Given the description of an element on the screen output the (x, y) to click on. 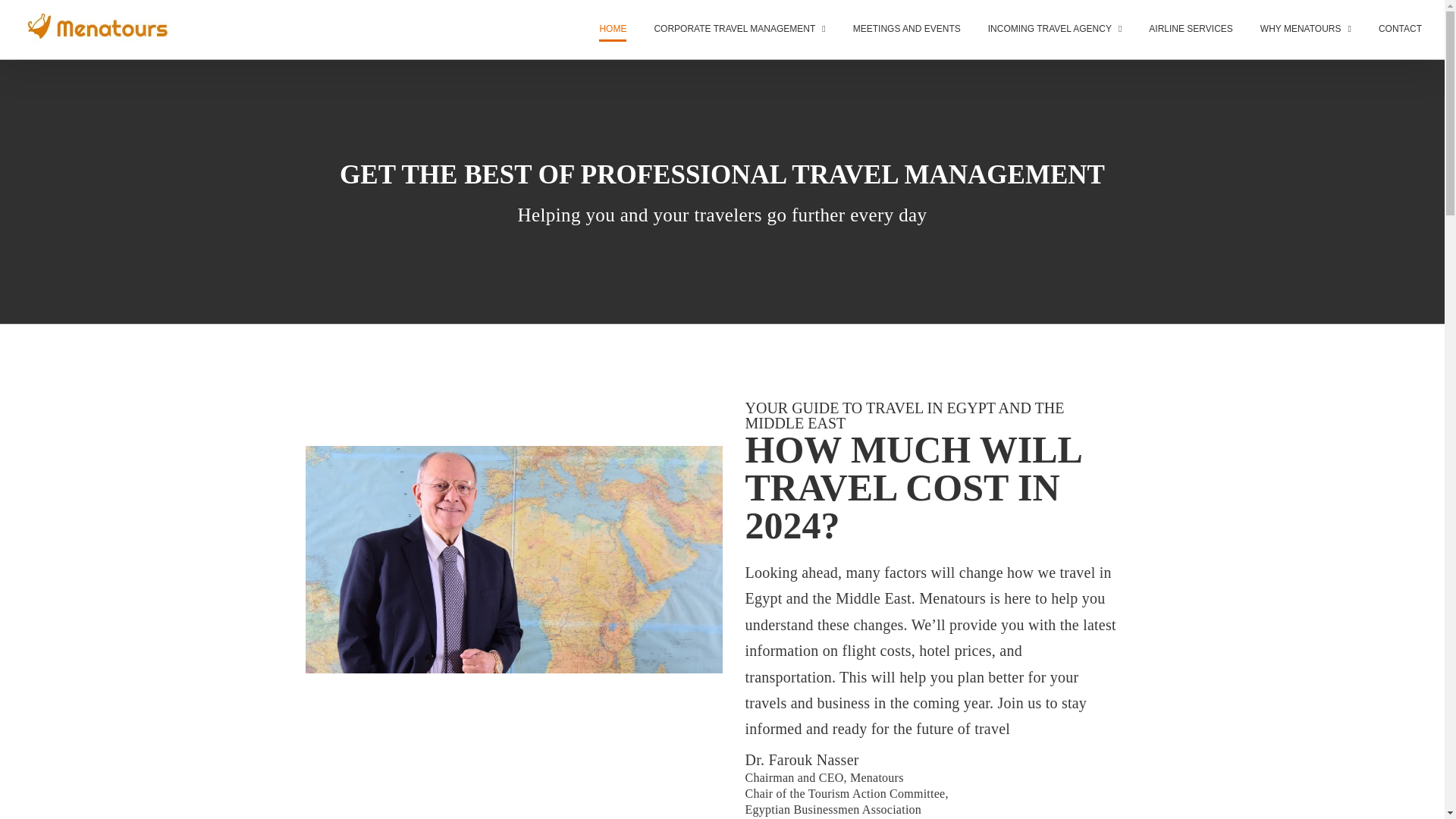
WHY MENATOURS (1305, 28)
INCOMING TRAVEL AGENCY (1055, 28)
CORPORATE TRAVEL MANAGEMENT (739, 28)
MEETINGS AND EVENTS (906, 28)
Farouk Nasser Highlight (513, 559)
AIRLINE SERVICES (1189, 28)
